Given the description of an element on the screen output the (x, y) to click on. 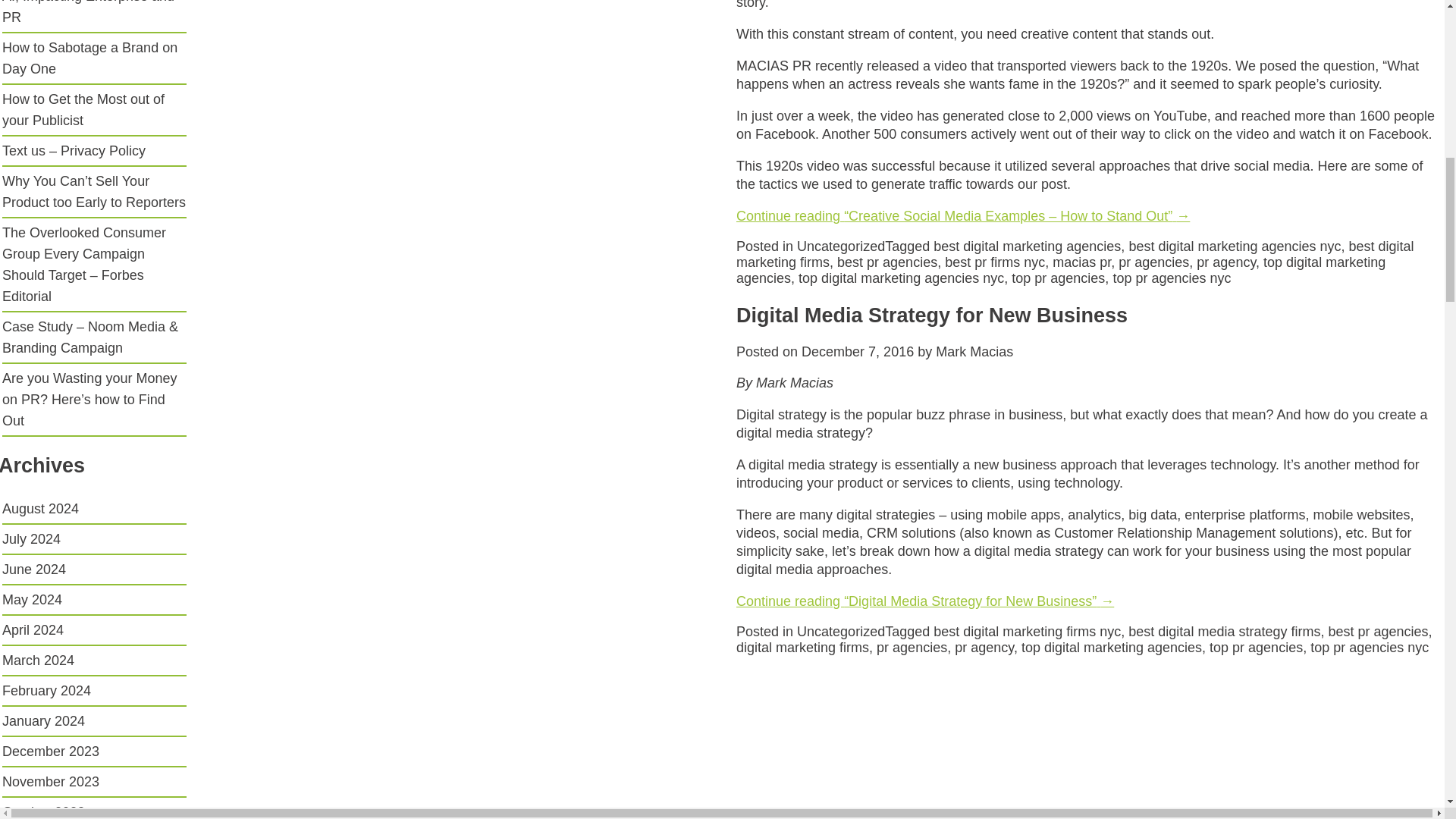
Research: Dirty Data Hinders AI, Impacting Enterprise and PR (90, 12)
How to Get the Most out of your Publicist (83, 109)
How to Sabotage a Brand on Day One (89, 58)
